Given the description of an element on the screen output the (x, y) to click on. 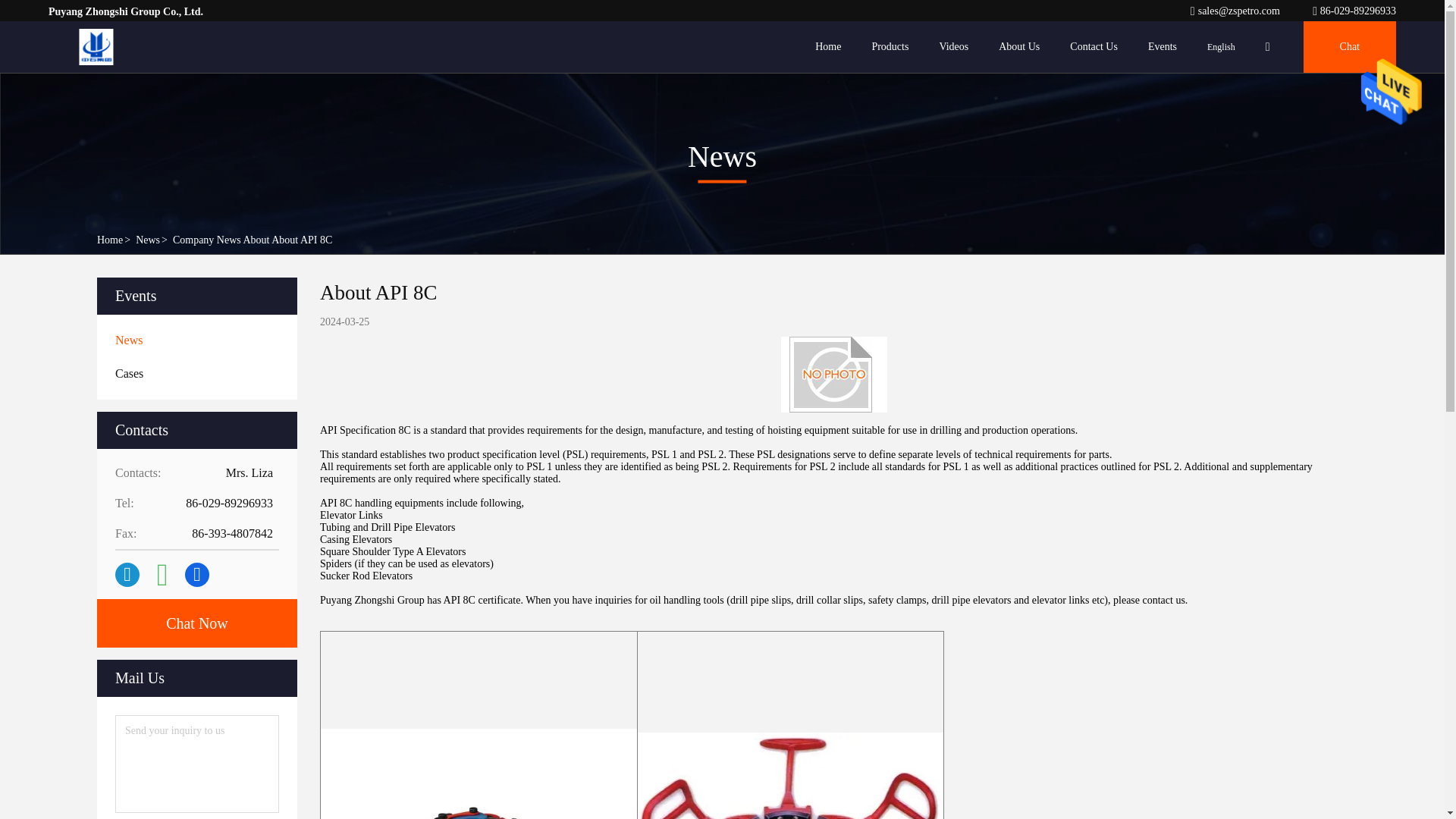
Puyang Zhongshi Group Co., Ltd. (1236, 10)
Puyang Zhongshi Group Co., Ltd. (1354, 10)
86-029-89296933 (1354, 10)
Contact Us (1094, 46)
Puyang Zhongshi Group Co., Ltd. (96, 46)
